Given the description of an element on the screen output the (x, y) to click on. 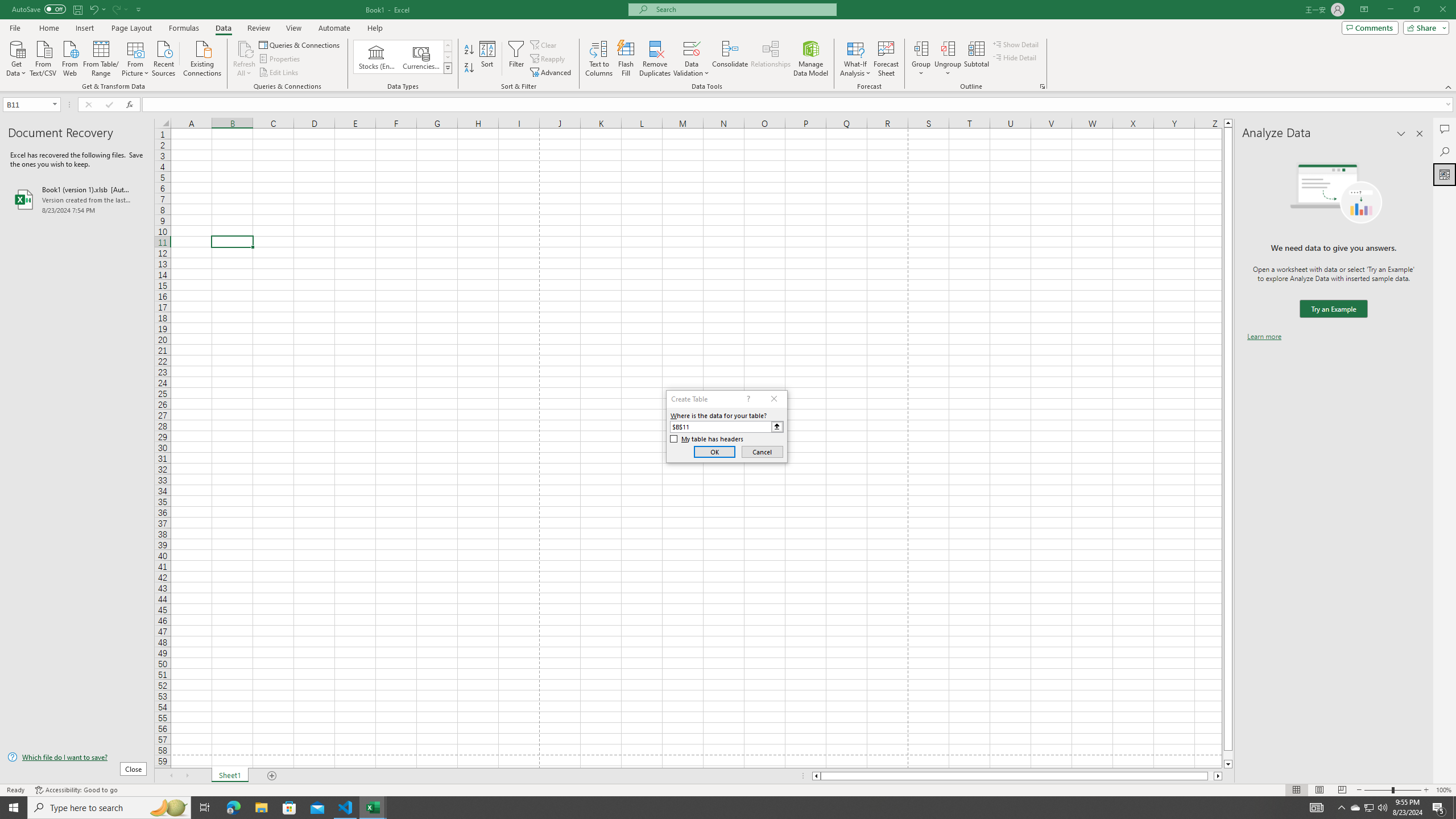
We need data to give you answers. Try an Example (1333, 308)
From Table/Range (100, 57)
Home (48, 28)
Accessibility Checker Accessibility: Good to go (76, 790)
Minimize (1390, 9)
Currencies (English) (420, 56)
From Text/CSV (43, 57)
Class: NetUIScrollBar (1016, 775)
Properties (280, 58)
Forecast Sheet (885, 58)
Hide Detail (1014, 56)
Line up (1228, 122)
Subtotal (976, 58)
Data Validation... (691, 48)
System (6, 6)
